Given the description of an element on the screen output the (x, y) to click on. 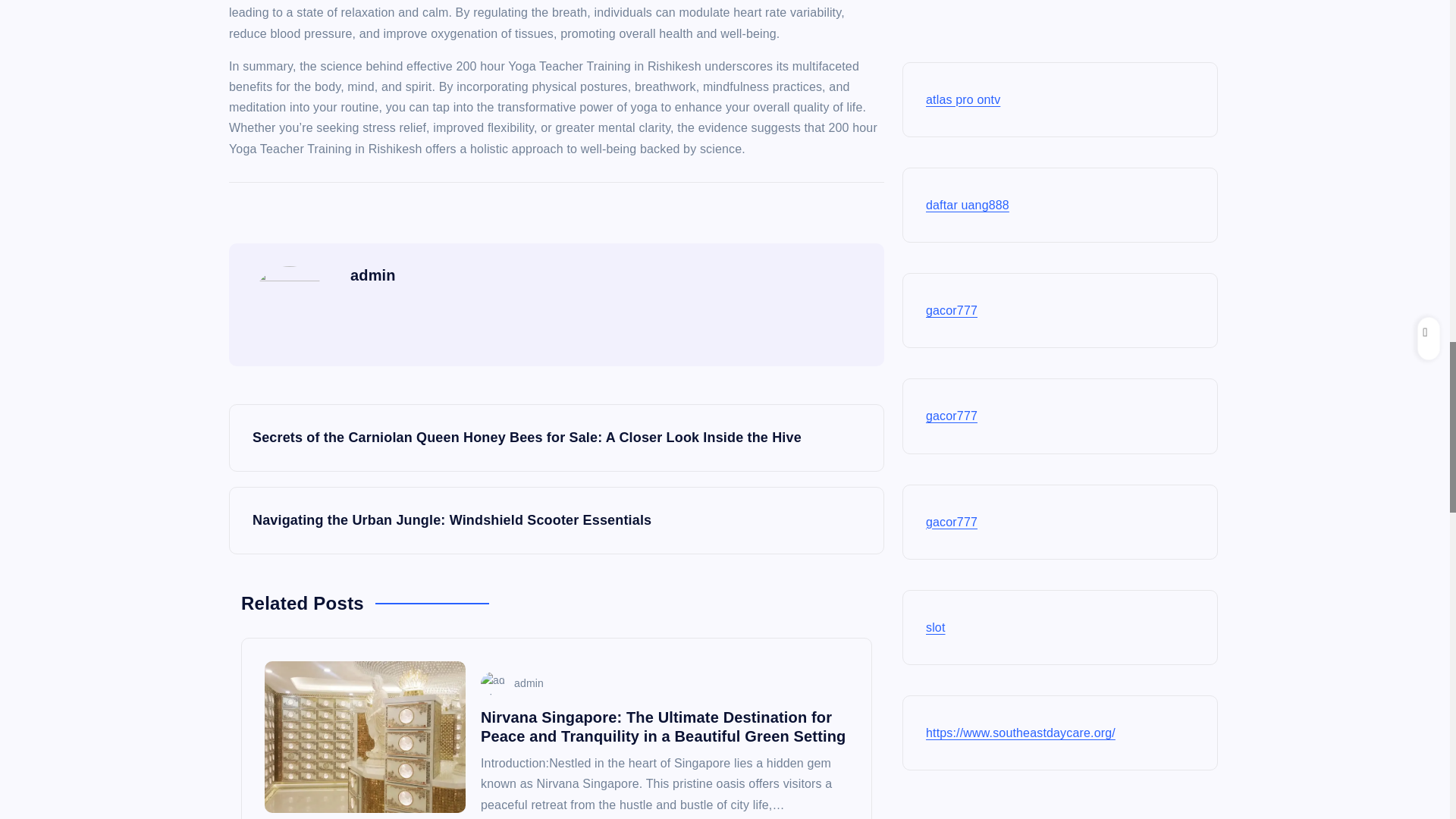
admin (373, 274)
Navigating the Urban Jungle: Windshield Scooter Essentials (555, 520)
admin (511, 683)
